Given the description of an element on the screen output the (x, y) to click on. 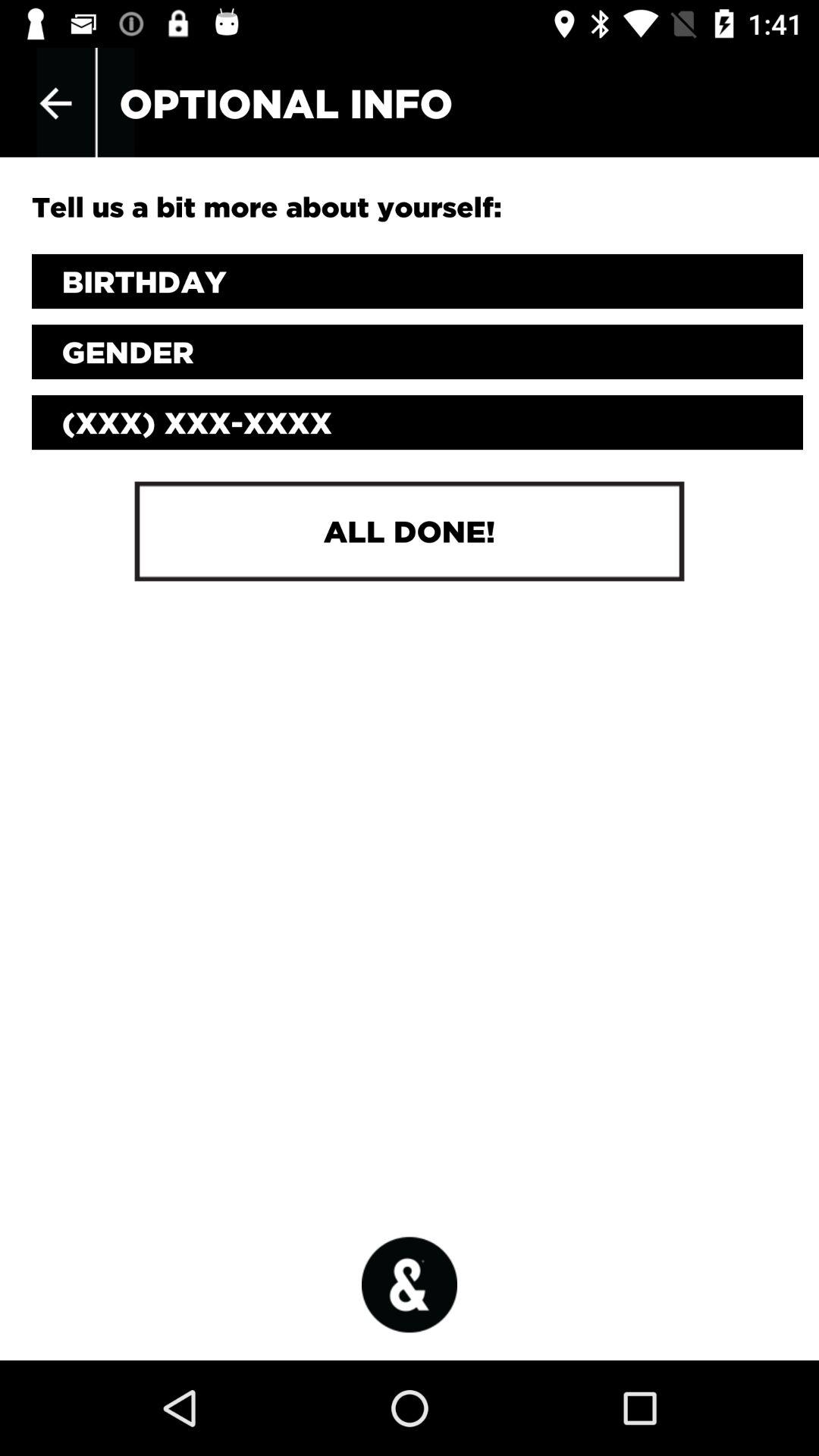
add gender (417, 351)
